Given the description of an element on the screen output the (x, y) to click on. 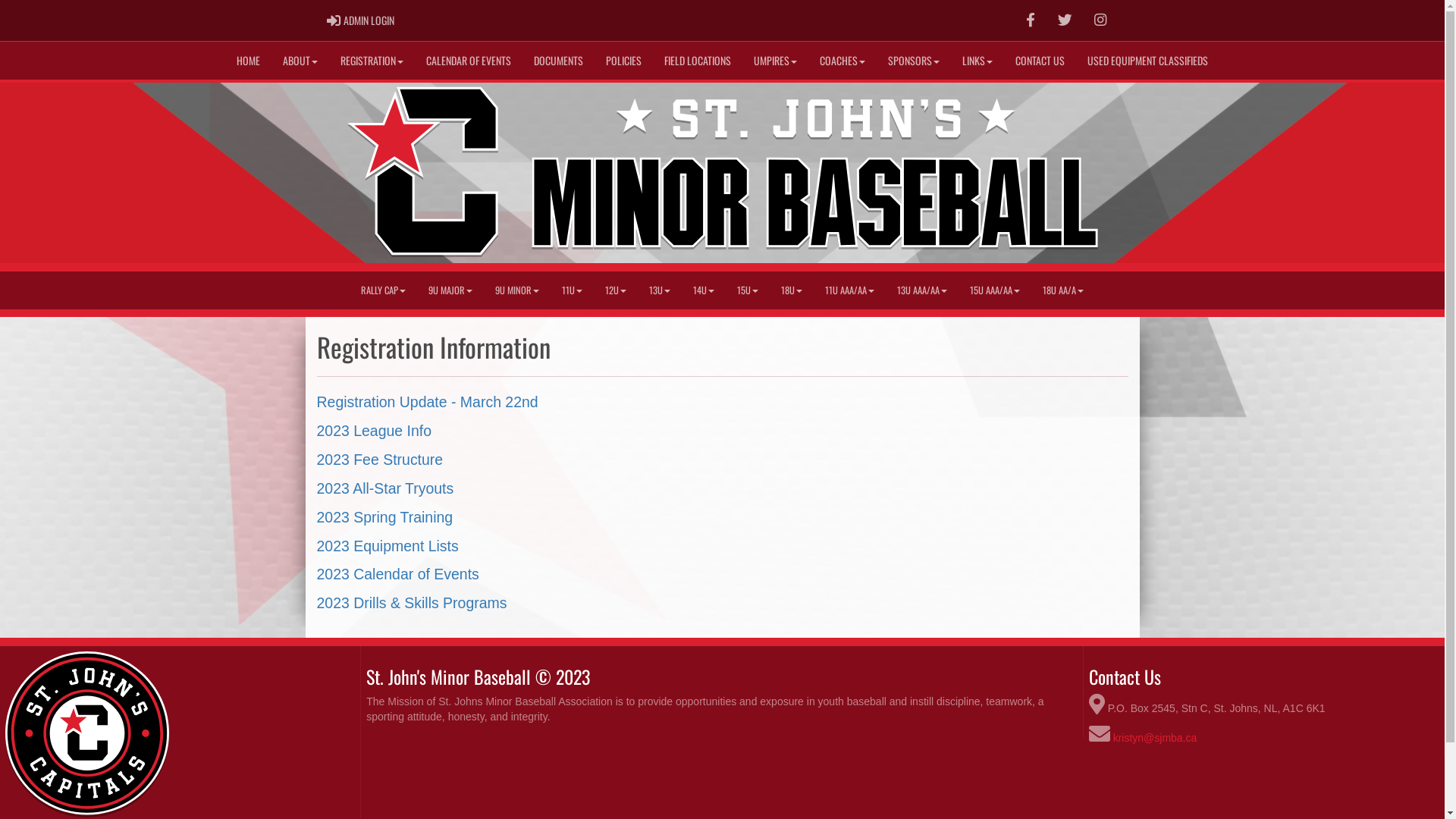
15U Element type: text (747, 290)
Registration Update - March 22nd Element type: text (427, 401)
14U Element type: text (703, 290)
11U AAA/AA Element type: text (849, 290)
18U AA/A Element type: text (1063, 290)
2023 Drills & Skills Programs Element type: text (411, 602)
12U Element type: text (615, 290)
follow us Element type: hover (1064, 19)
11U Element type: text (571, 290)
RALLY CAP Element type: text (383, 290)
CONTACT US Element type: text (1040, 60)
SPONSORS Element type: text (913, 60)
like us Element type: hover (1030, 19)
COACHES Element type: text (842, 60)
CALENDAR OF EVENTS Element type: text (468, 60)
HOME Element type: text (248, 60)
2023 Calendar of Events Element type: text (397, 573)
2023 Spring Training Element type: text (384, 516)
LOGIN PAGE
 ADMIN LOGIN
ADMIN LOGIN Element type: text (360, 20)
Facebook Element type: text (1030, 20)
13U Element type: text (659, 290)
9U MAJOR Element type: text (450, 290)
Instagram Element type: text (1100, 20)
POLICIES Element type: text (623, 60)
2023 League Info Element type: text (374, 430)
LINKS Element type: text (977, 60)
Login Page Element type: hover (333, 20)
2023 Equipment Lists Element type: text (387, 545)
13U AAA/AA Element type: text (921, 290)
FIELD LOCATIONS Element type: text (697, 60)
ABOUT Element type: text (300, 60)
18U Element type: text (791, 290)
2023 Fee Structure Element type: text (379, 459)
15U AAA/AA Element type: text (994, 290)
kristyn@sjmba.ca Element type: text (1155, 737)
instagram Element type: hover (1100, 19)
9U MINOR Element type: text (516, 290)
2023 All-Star Tryouts Element type: text (385, 488)
UMPIRES Element type: text (775, 60)
USED EQUIPMENT CLASSIFIEDS Element type: text (1147, 60)
REGISTRATION Element type: text (371, 60)
DOCUMENTS Element type: text (558, 60)
Twitter Element type: text (1065, 20)
